Given the description of an element on the screen output the (x, y) to click on. 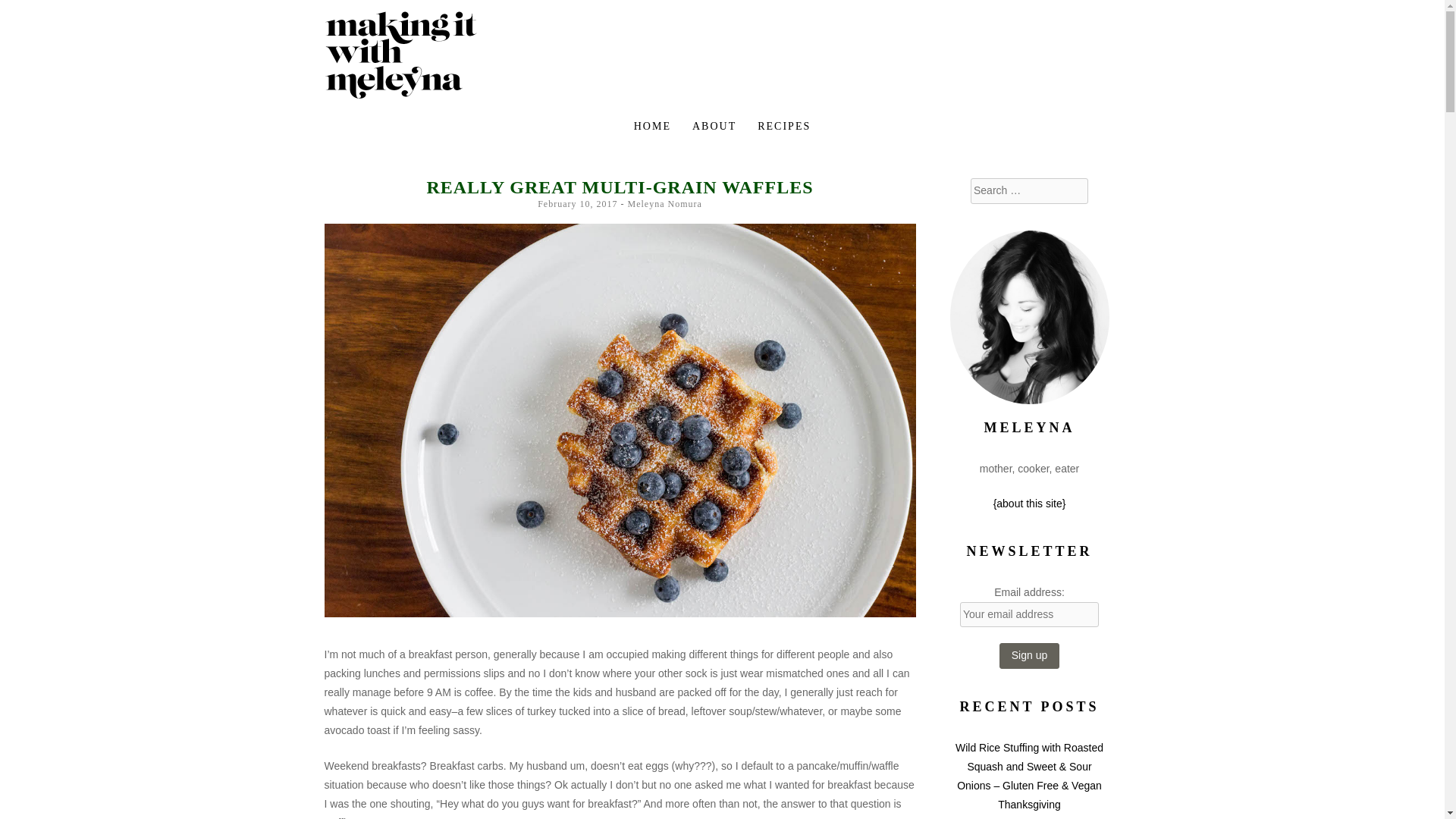
Sign up (1028, 655)
Sign up (1028, 655)
MAKING IT WITH MELEYNA (579, 47)
RECIPES (783, 125)
Search (29, 12)
Meleyna Nomura (664, 204)
February 10, 2017 (577, 204)
HOME (652, 125)
ABOUT (714, 125)
